Given the description of an element on the screen output the (x, y) to click on. 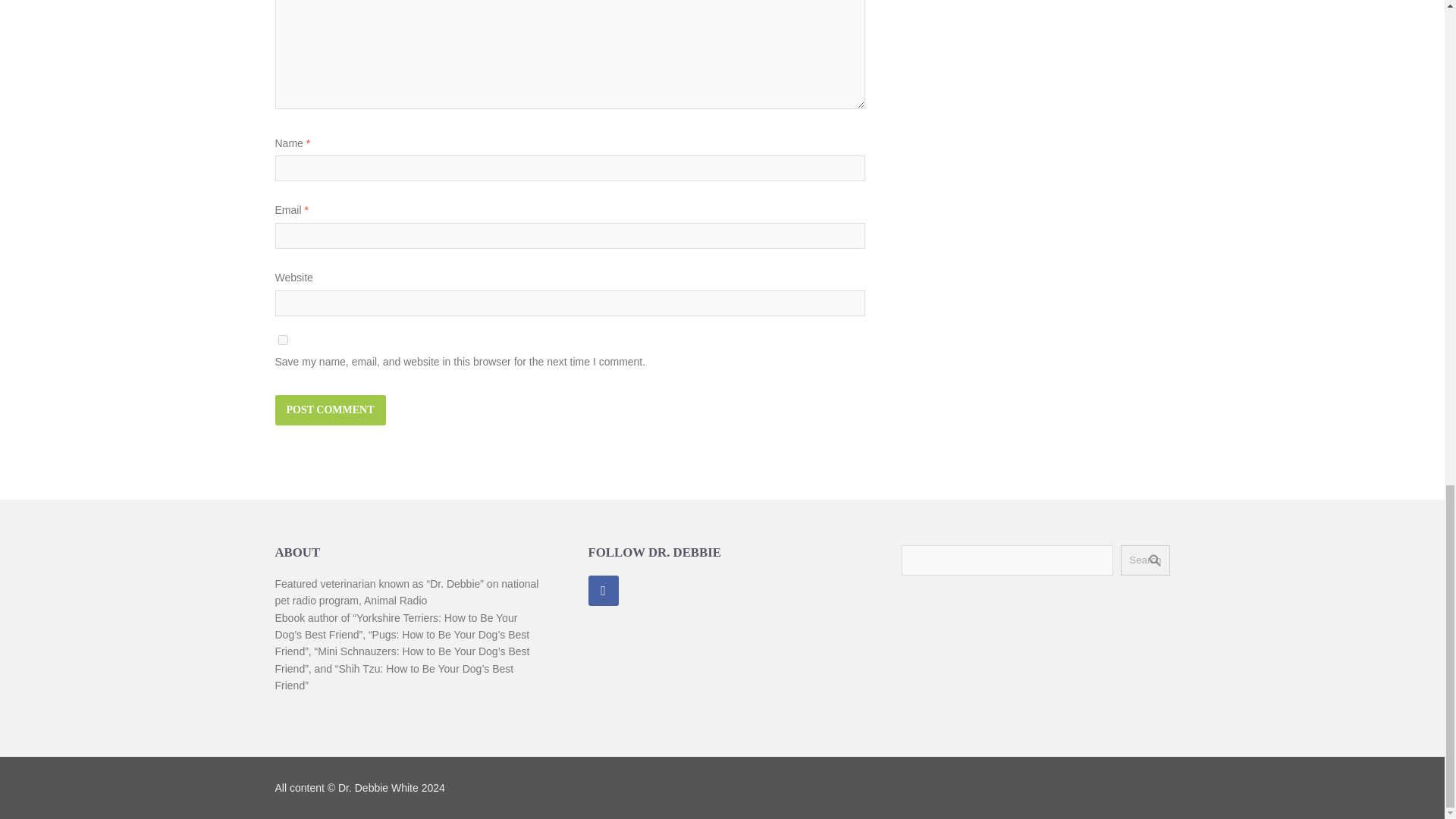
Post Comment (330, 409)
Post Comment (330, 409)
Facebook (603, 590)
yes (282, 339)
Search (1145, 560)
